Given the description of an element on the screen output the (x, y) to click on. 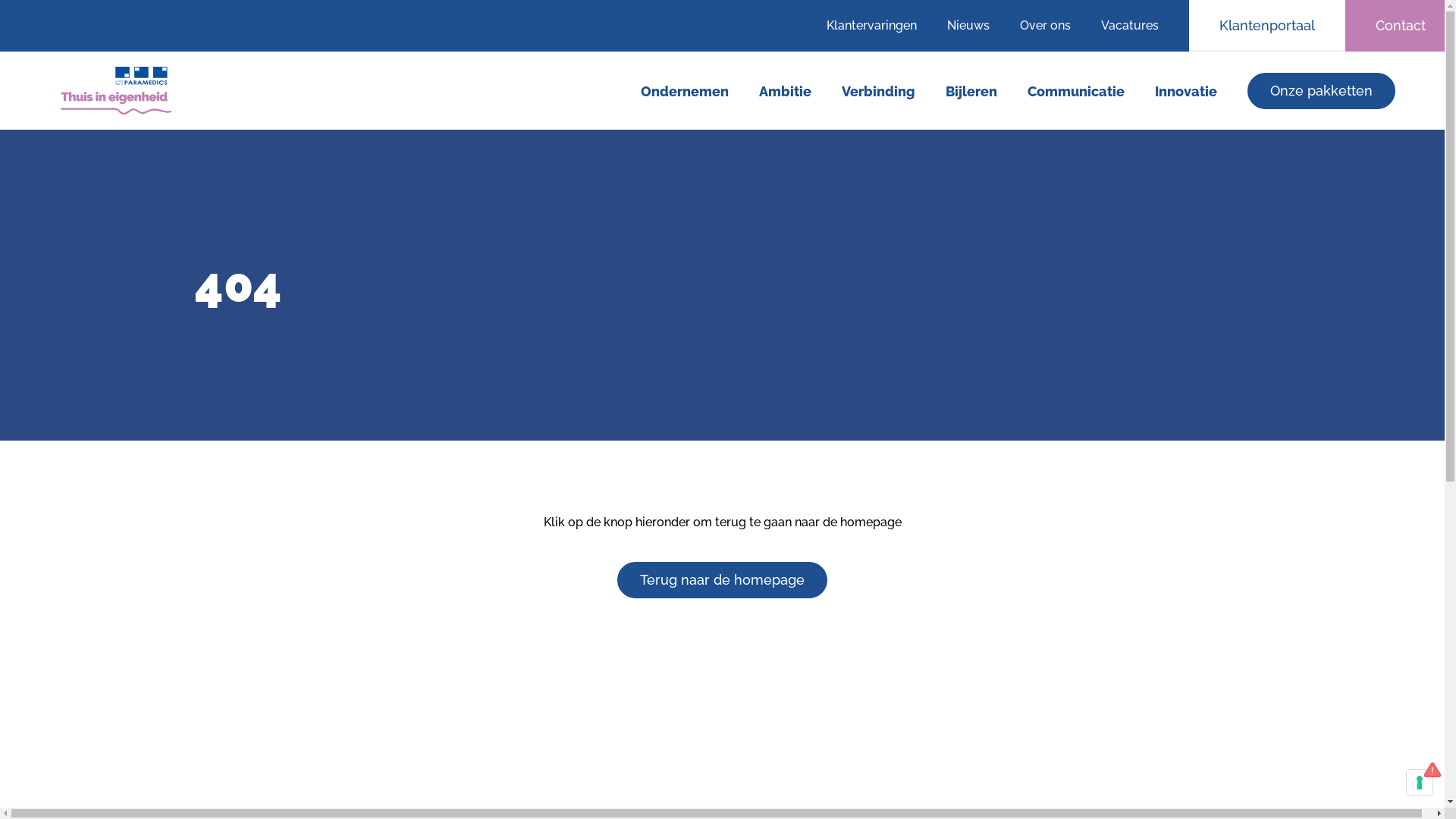
Communicatie Element type: text (1075, 91)
Ambitie Element type: text (785, 91)
Onze pakketten Element type: text (1321, 90)
Bijleren Element type: text (971, 91)
Ondernemen Element type: text (684, 91)
Klantenportaal Element type: text (1267, 25)
Nieuws Element type: text (967, 25)
Vacatures Element type: text (1137, 25)
Over ons Element type: text (1044, 25)
Innovatie Element type: text (1185, 91)
Terug naar de homepage Element type: text (722, 579)
Klantervaringen Element type: text (878, 25)
Verbinding Element type: text (878, 91)
